Given the description of an element on the screen output the (x, y) to click on. 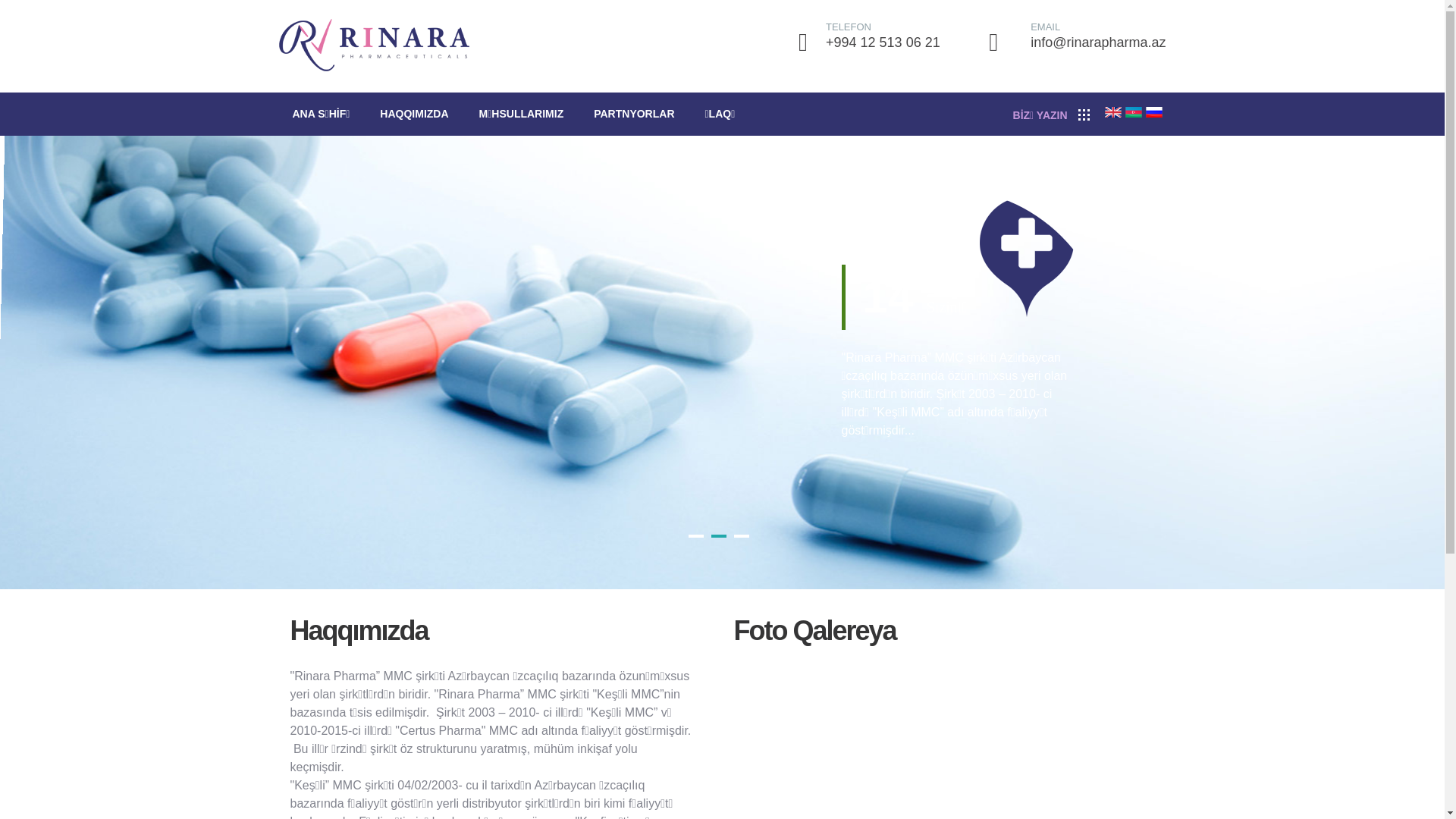
HAQQIMIZDA Element type: text (415, 113)
+994 12 513 06 21 Element type: text (882, 42)
info@rinarapharma.az Element type: text (1097, 42)
PARTNYORLAR Element type: text (635, 113)
